Given the description of an element on the screen output the (x, y) to click on. 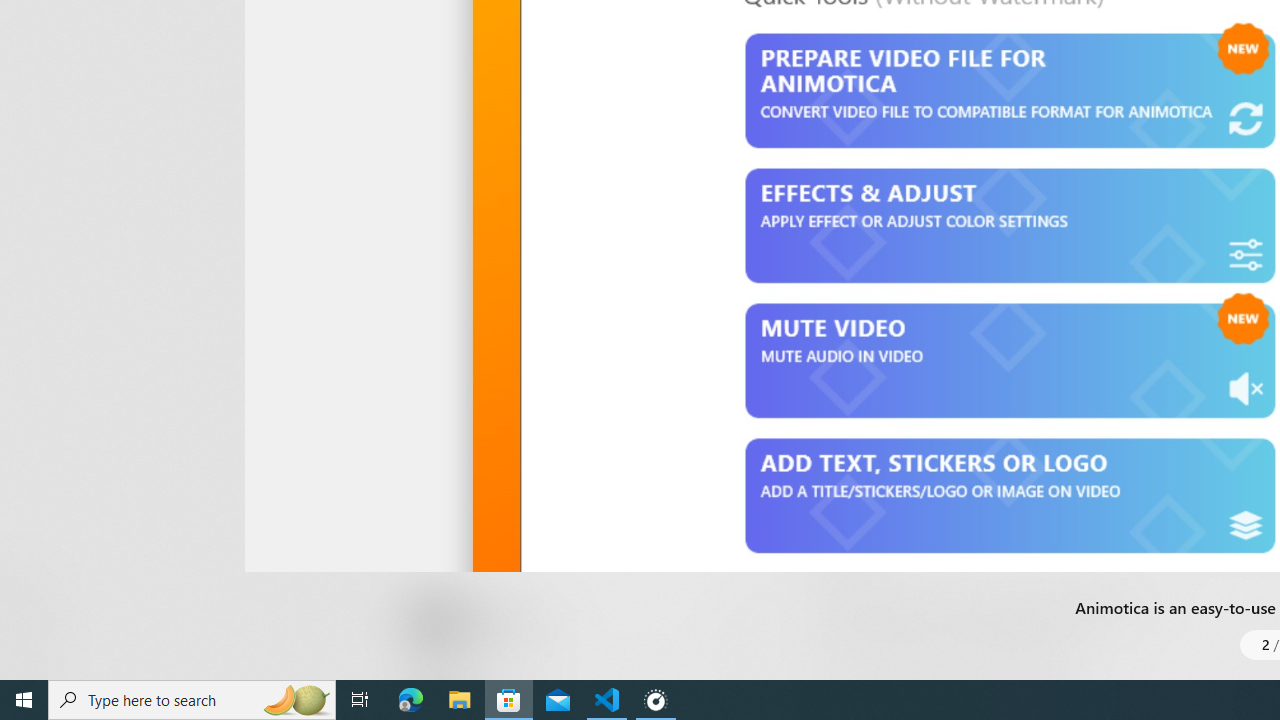
Library (35, 640)
What's New (35, 578)
Age rating: EVERYONE. Click for more information. (506, 619)
Show all ratings and reviews (838, 472)
Share (746, 632)
Photo & video (579, 43)
Show more (854, 31)
